Given the description of an element on the screen output the (x, y) to click on. 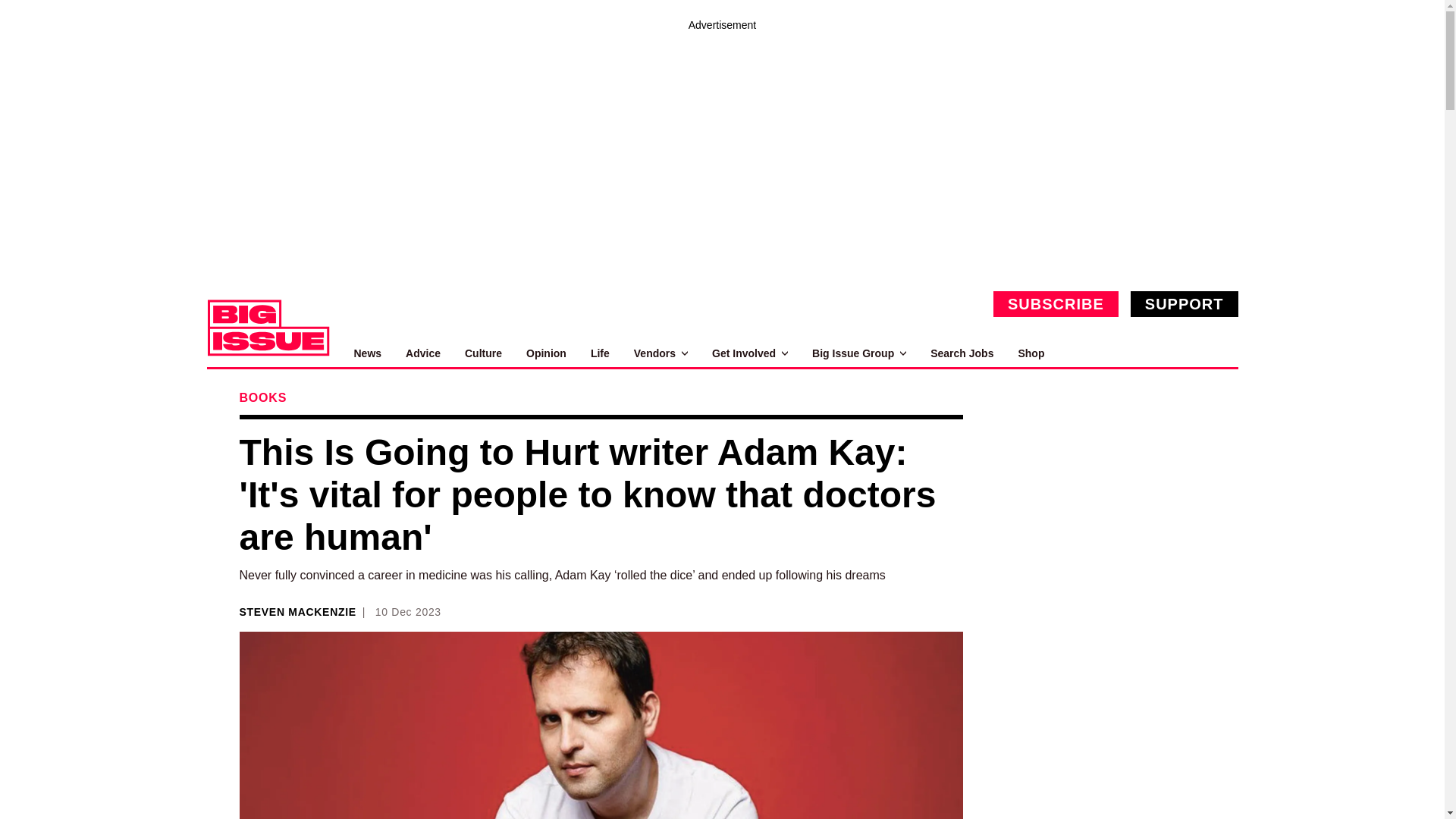
Vendors (660, 353)
Opinion (545, 353)
Advice (423, 353)
Search (1220, 353)
Culture (483, 353)
SUBSCRIBE (1055, 303)
Support (1185, 303)
SUPPORT (1185, 303)
Search Jobs (961, 353)
Subscribe (1055, 303)
